Given the description of an element on the screen output the (x, y) to click on. 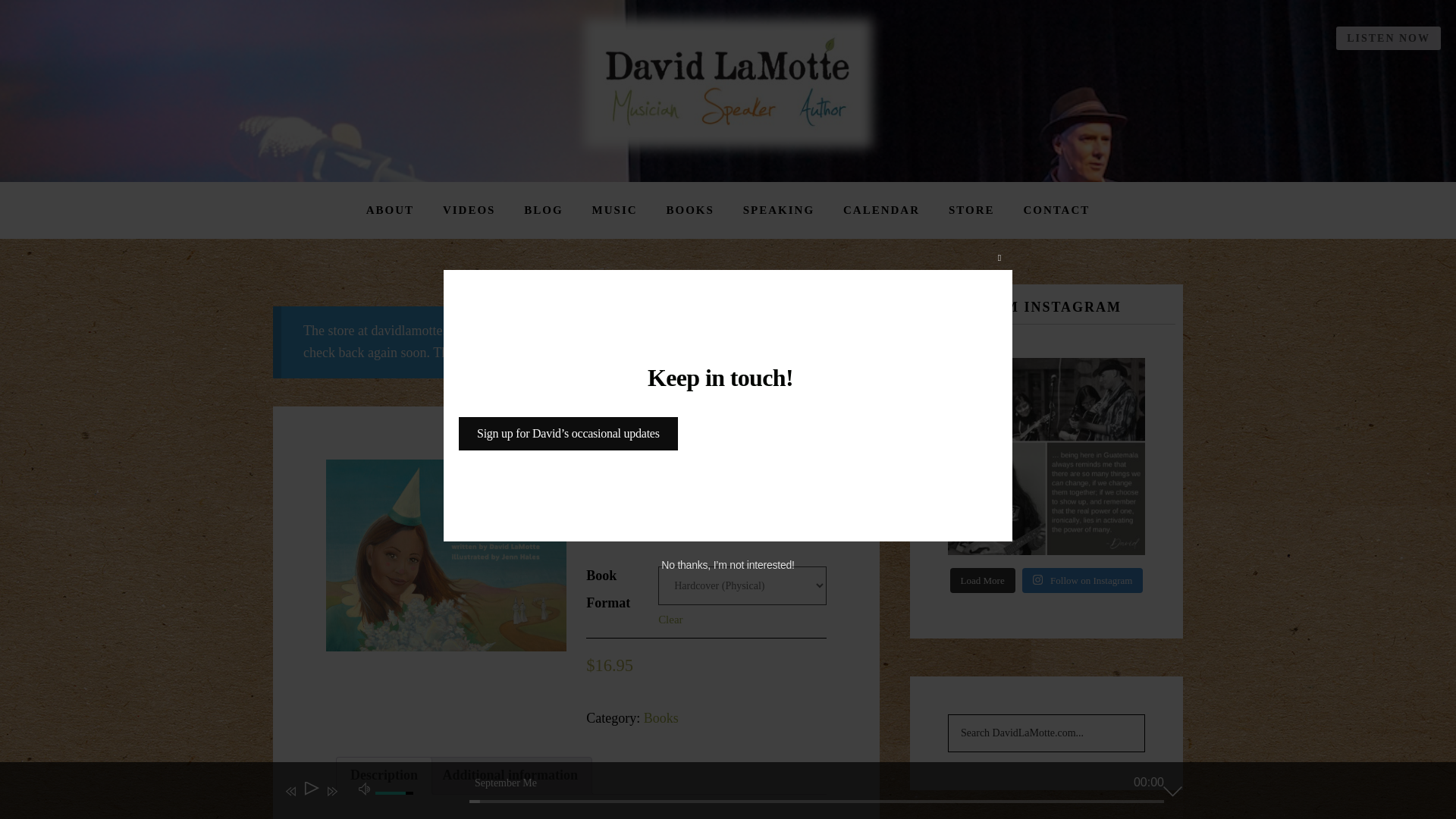
BOOKS (689, 210)
Play (310, 791)
CALENDAR (881, 210)
SPEAKING (778, 210)
MUSIC (614, 210)
LISTEN NOW (1388, 37)
BLOG (542, 210)
VIDEOS (469, 210)
ABOUT (389, 210)
CONTACT (1056, 210)
White Flour (446, 555)
David LaMotte (727, 83)
STORE (971, 210)
